Given the description of an element on the screen output the (x, y) to click on. 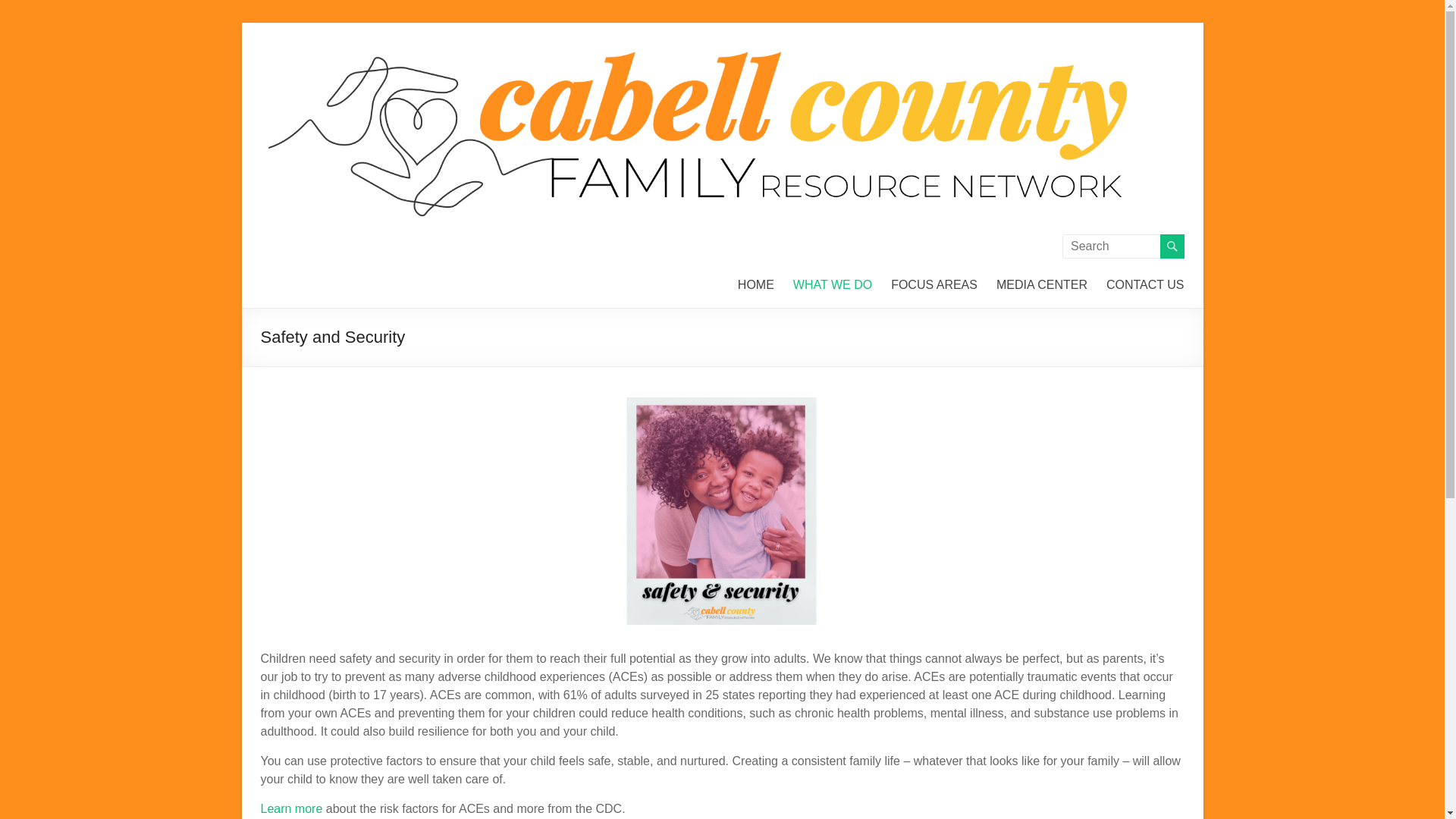
HOME (756, 284)
MEDIA CENTER (1041, 284)
FOCUS AREAS (933, 284)
WHAT WE DO (832, 284)
CONTACT US (1145, 284)
Learn more (291, 808)
